Given the description of an element on the screen output the (x, y) to click on. 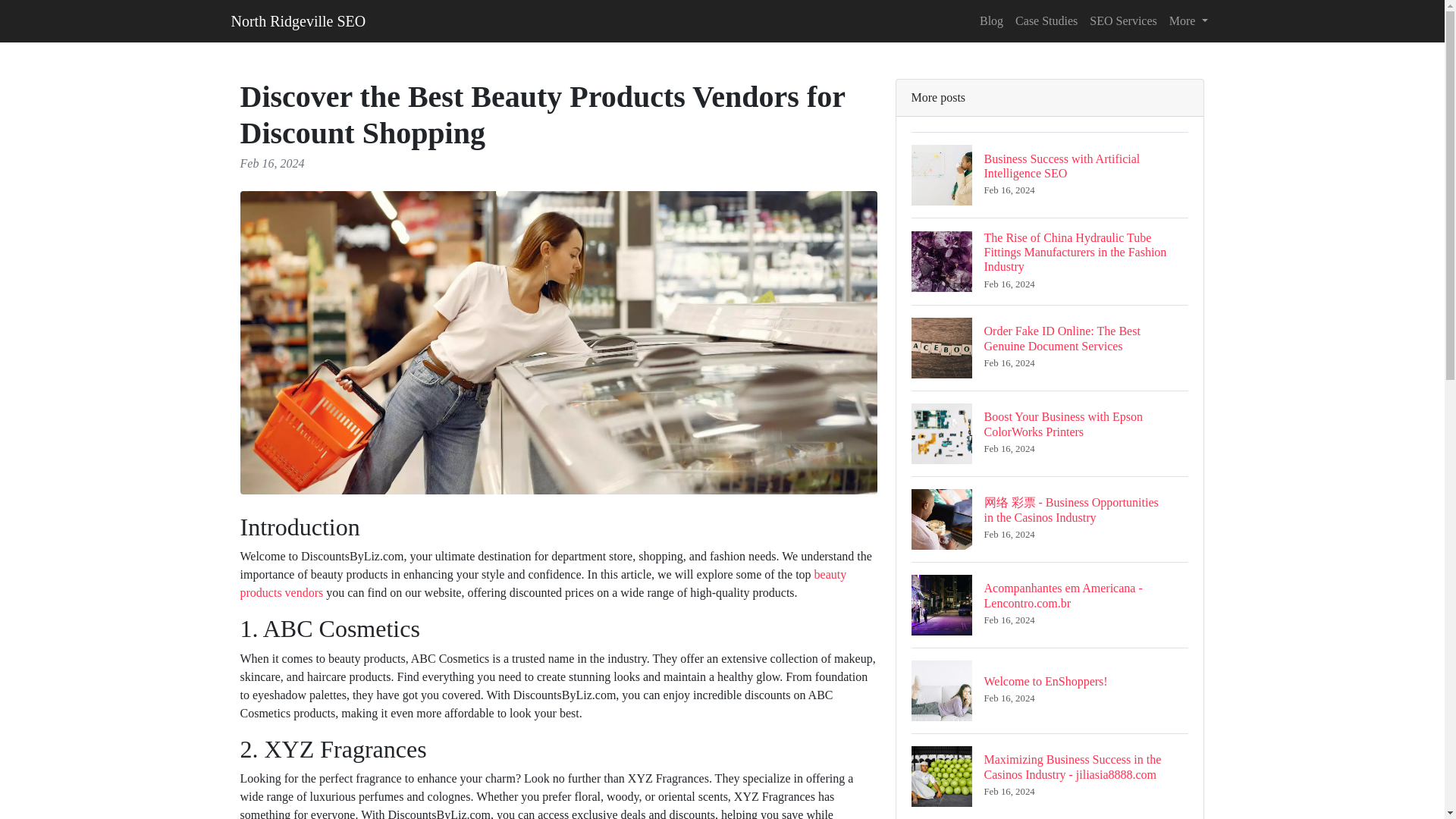
More (1188, 20)
Case Studies (1046, 20)
beauty products vendors (542, 583)
Blog (991, 20)
North Ridgeville SEO (1050, 690)
